Given the description of an element on the screen output the (x, y) to click on. 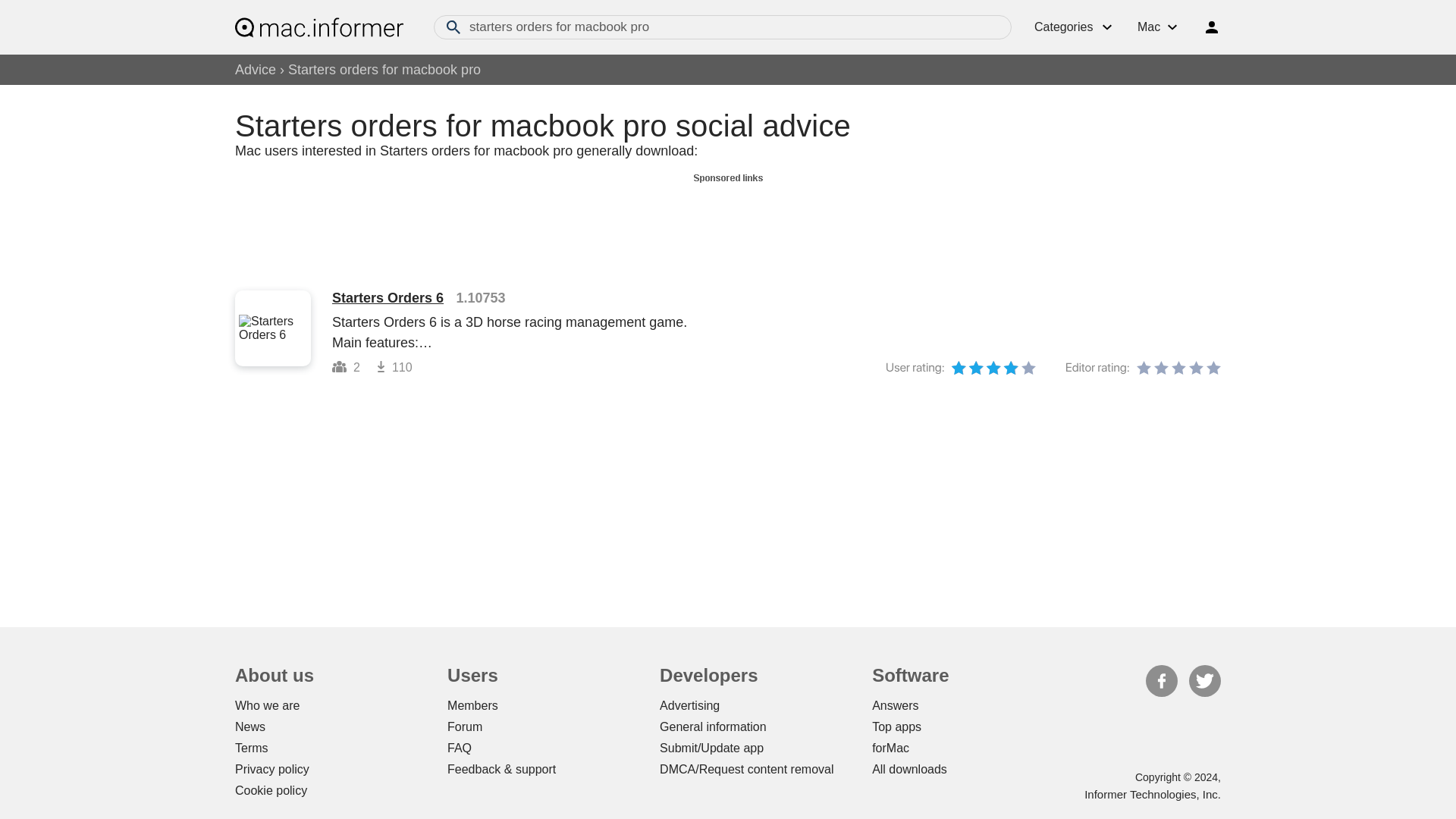
starters orders for macbook pro (722, 27)
forMac (890, 748)
FAQ (458, 748)
Search (453, 27)
Cookie policy (270, 789)
Answers (895, 705)
Privacy policy (271, 768)
Terms (250, 748)
All downloads (909, 768)
Forum (463, 726)
Software downloads and reviews (318, 26)
General information (713, 726)
Starters Orders 6 (387, 297)
